Given the description of an element on the screen output the (x, y) to click on. 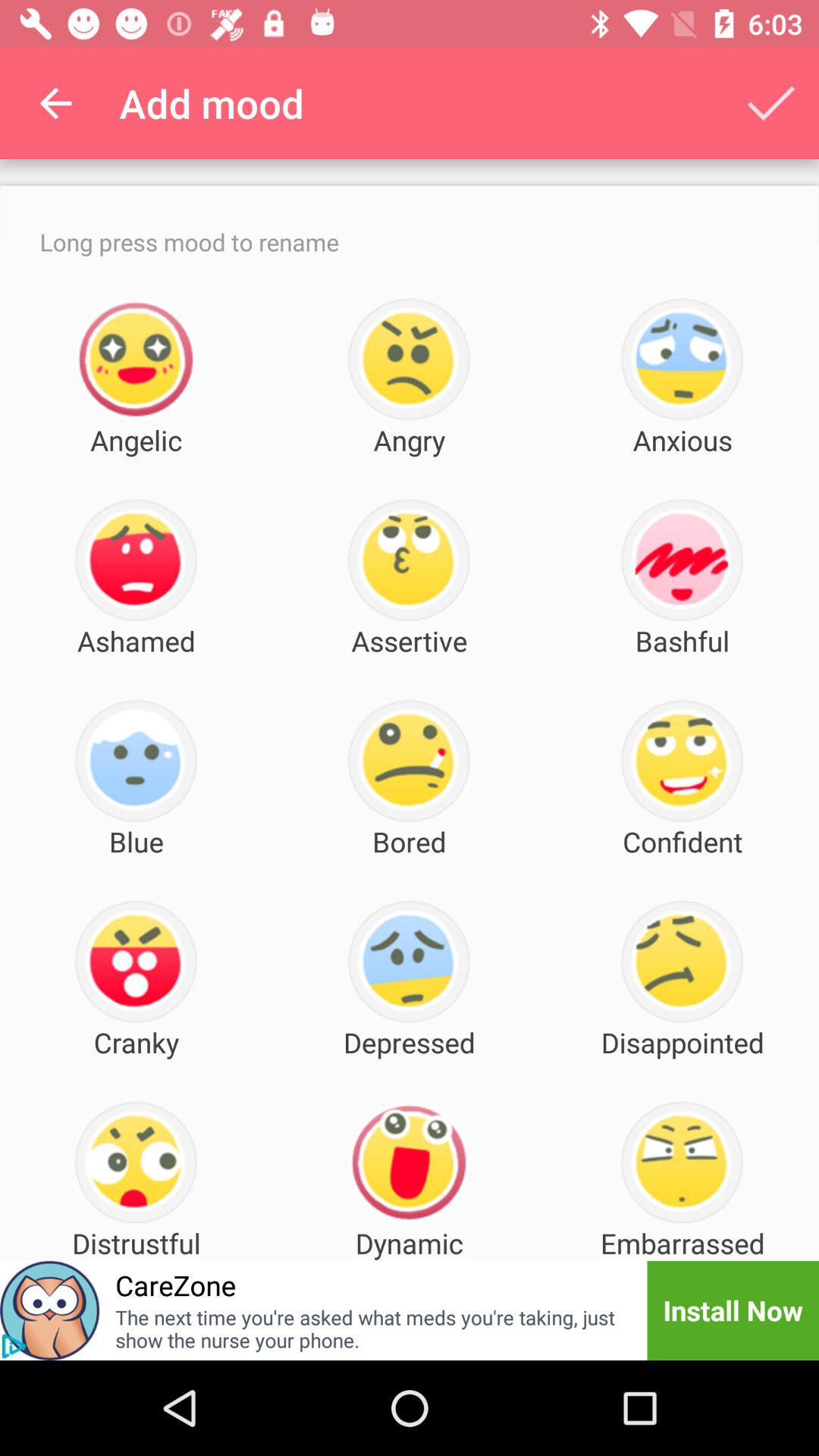
play advertisement (14, 1346)
